Given the description of an element on the screen output the (x, y) to click on. 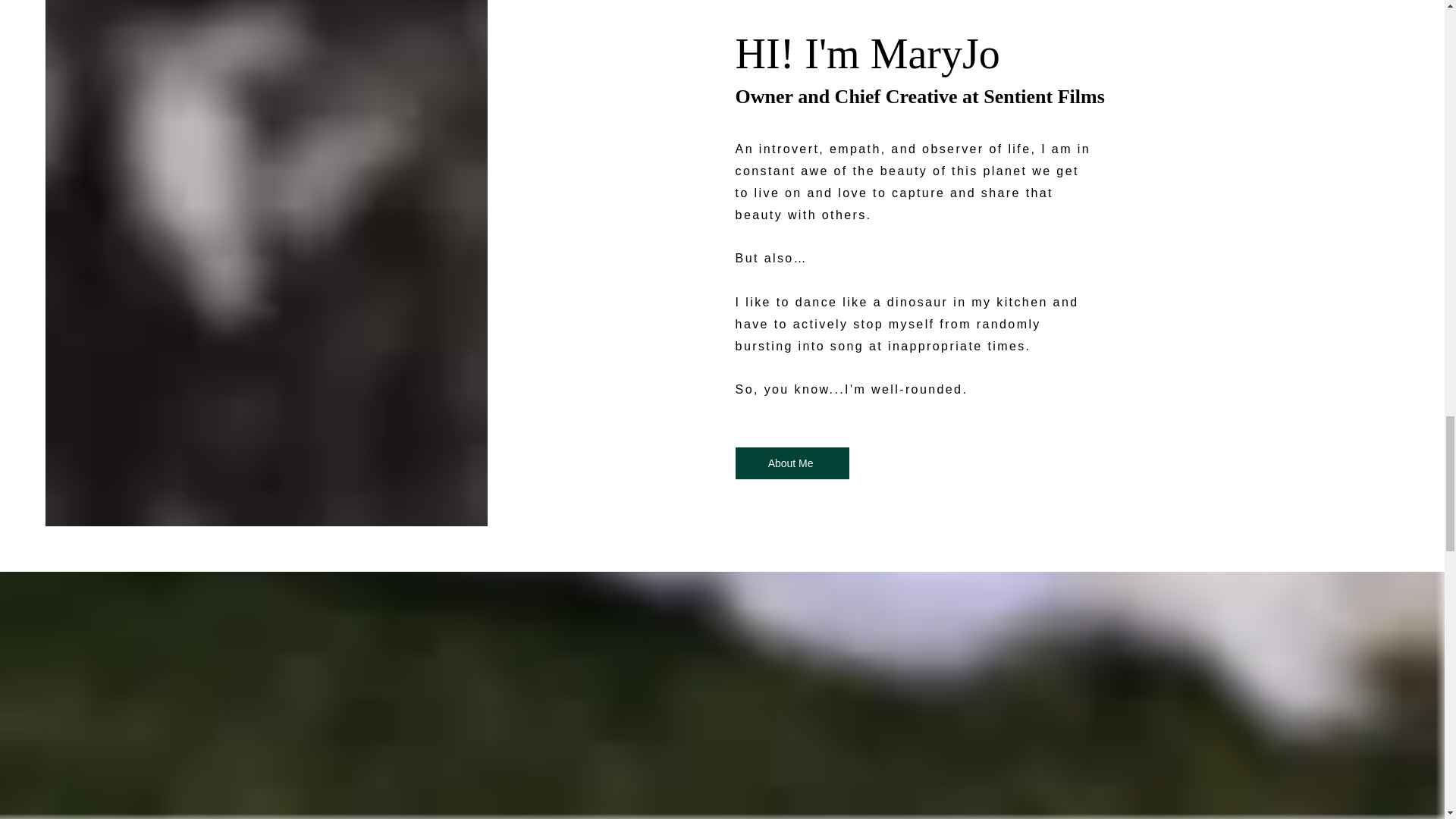
About Me (791, 463)
